Given the description of an element on the screen output the (x, y) to click on. 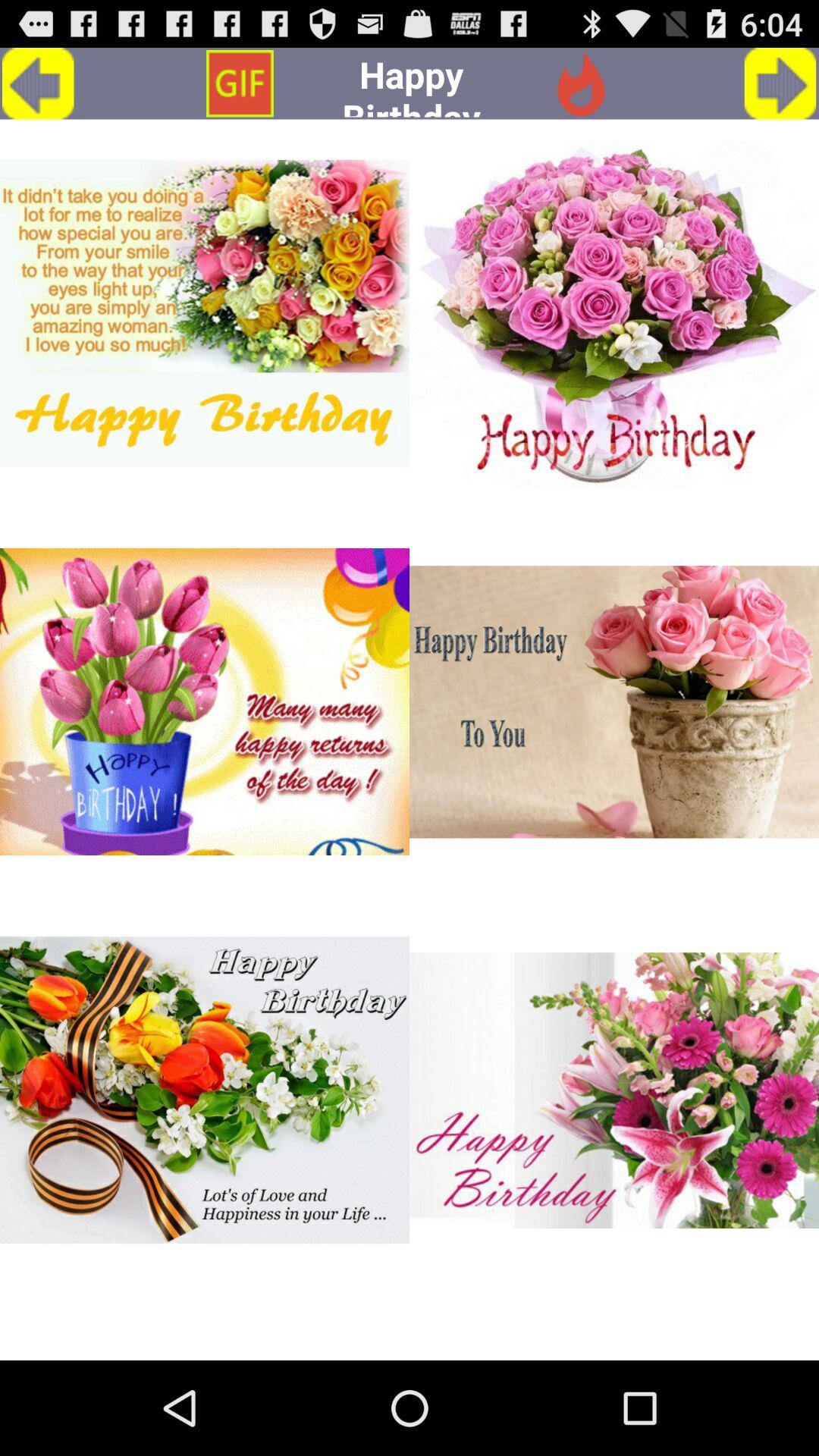
choose flowers (204, 701)
